Given the description of an element on the screen output the (x, y) to click on. 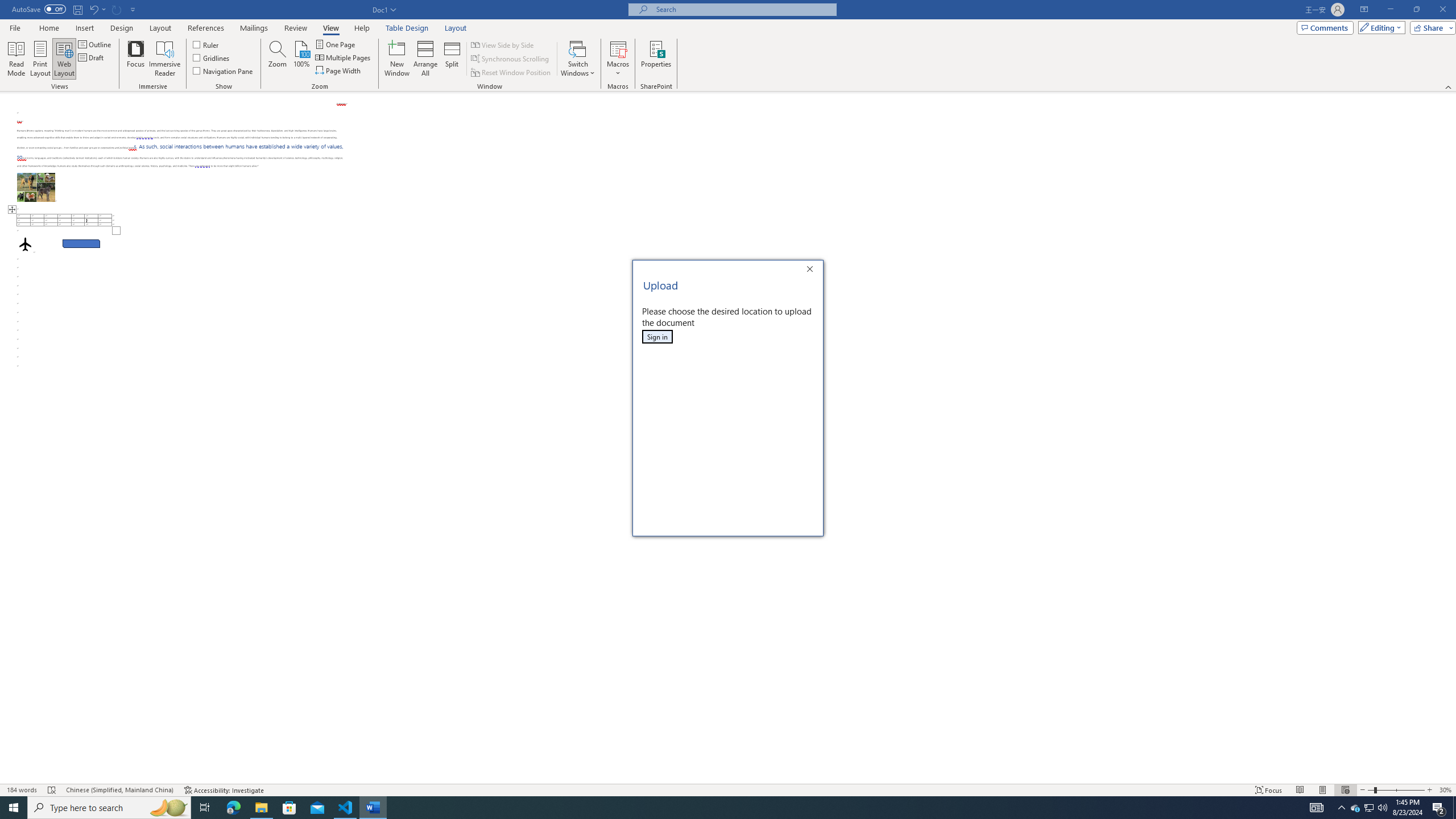
Properties (655, 58)
Word Count 184 words (22, 790)
User Promoted Notification Area (1368, 807)
Minimize (1390, 9)
